Given the description of an element on the screen output the (x, y) to click on. 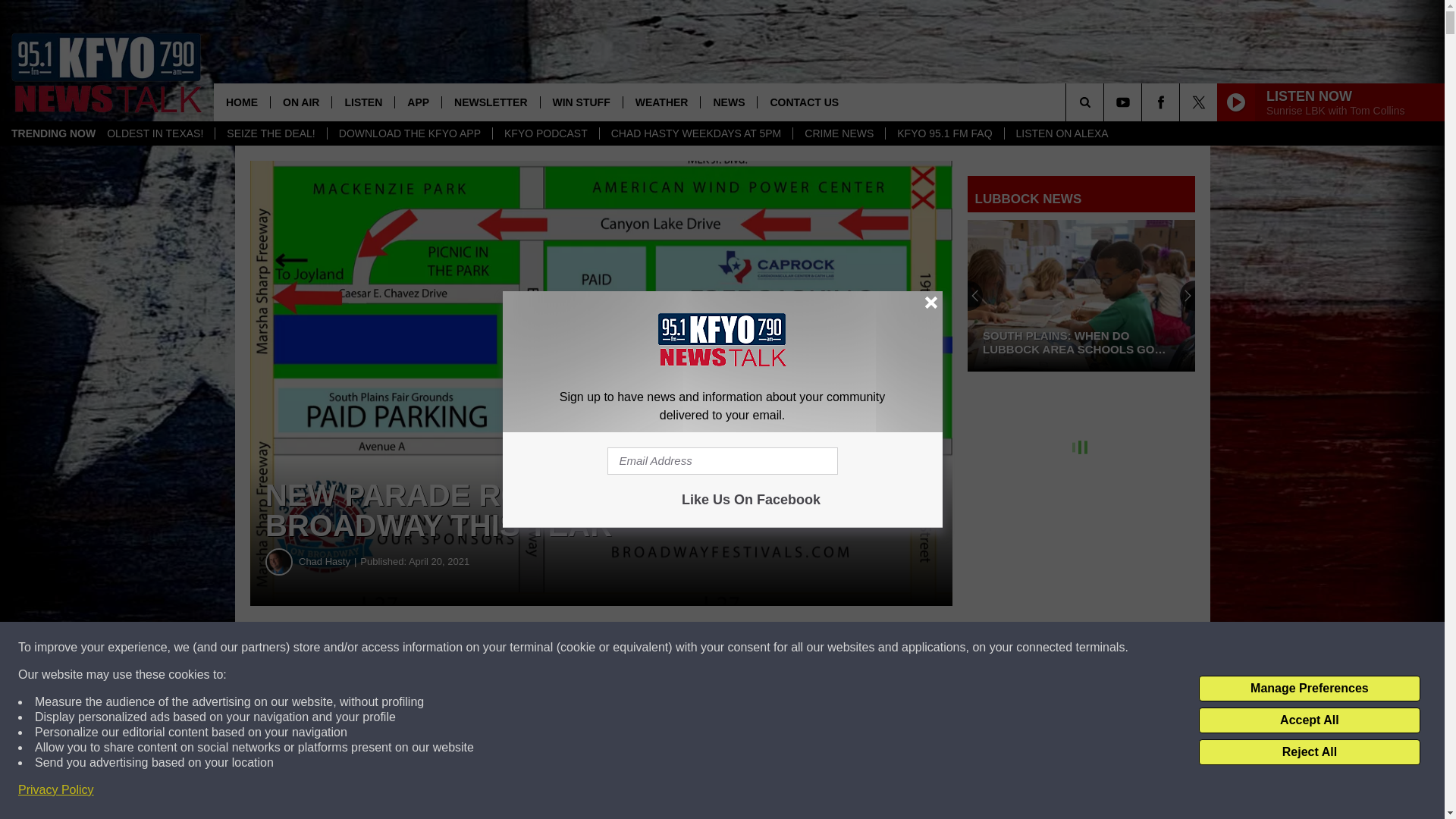
Accept All (1309, 720)
Manage Preferences (1309, 688)
NEWSLETTER (489, 102)
Share on Facebook (460, 647)
DOWNLOAD THE KFYO APP (409, 133)
Email Address (722, 461)
APP (417, 102)
CHAD HASTY WEEKDAYS AT 5PM (695, 133)
Reject All (1309, 751)
KFYO PODCAST (545, 133)
HOME (241, 102)
WIN STUFF (581, 102)
OLDEST IN TEXAS! (155, 133)
SEIZE THE DEAL! (270, 133)
SEARCH (1106, 102)
